Given the description of an element on the screen output the (x, y) to click on. 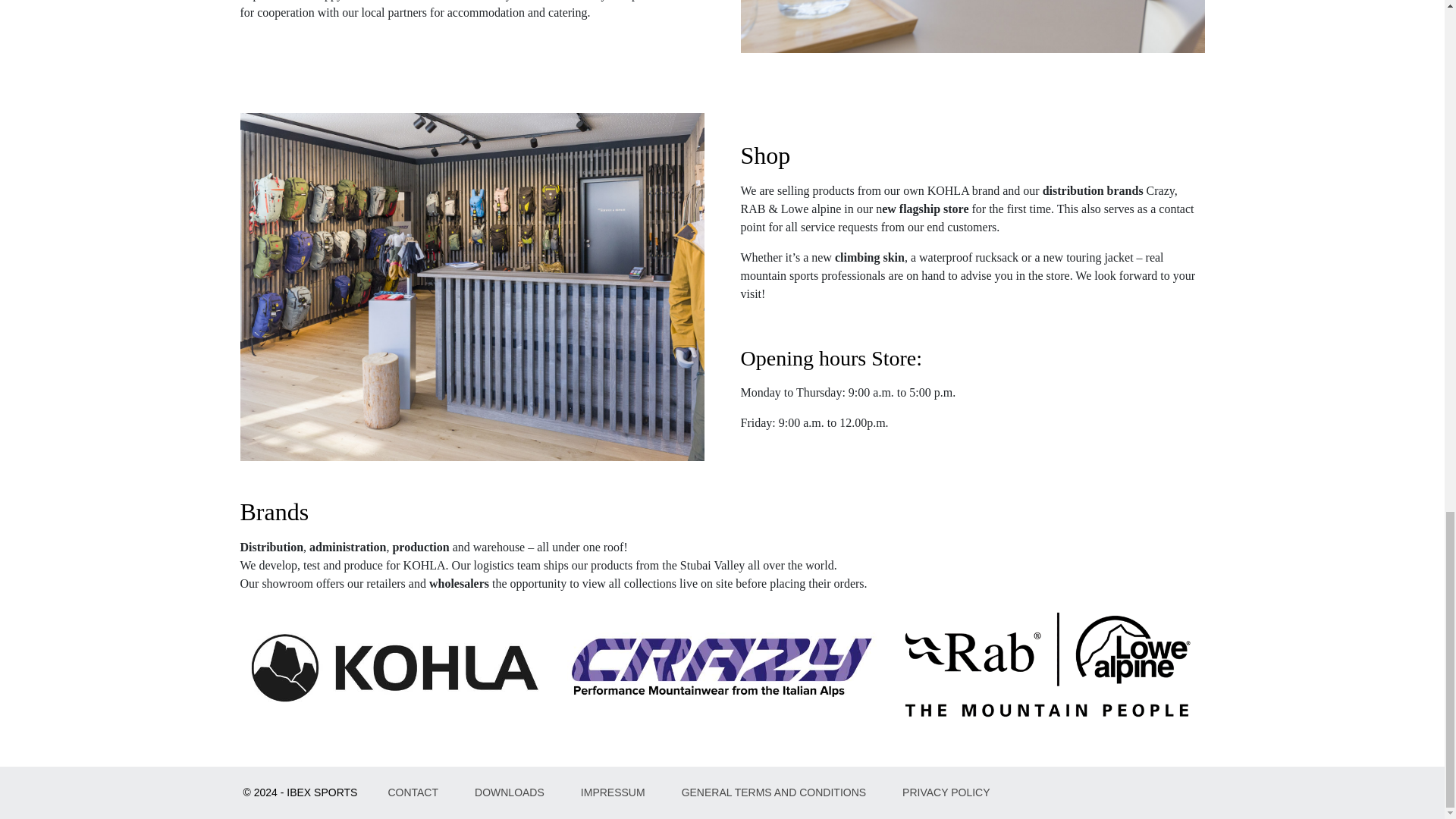
PRIVACY POLICY (945, 792)
CONTACT (413, 792)
DOWNLOADS (509, 792)
GENERAL TERMS AND CONDITIONS (773, 792)
IMPRESSUM (612, 792)
